Given the description of an element on the screen output the (x, y) to click on. 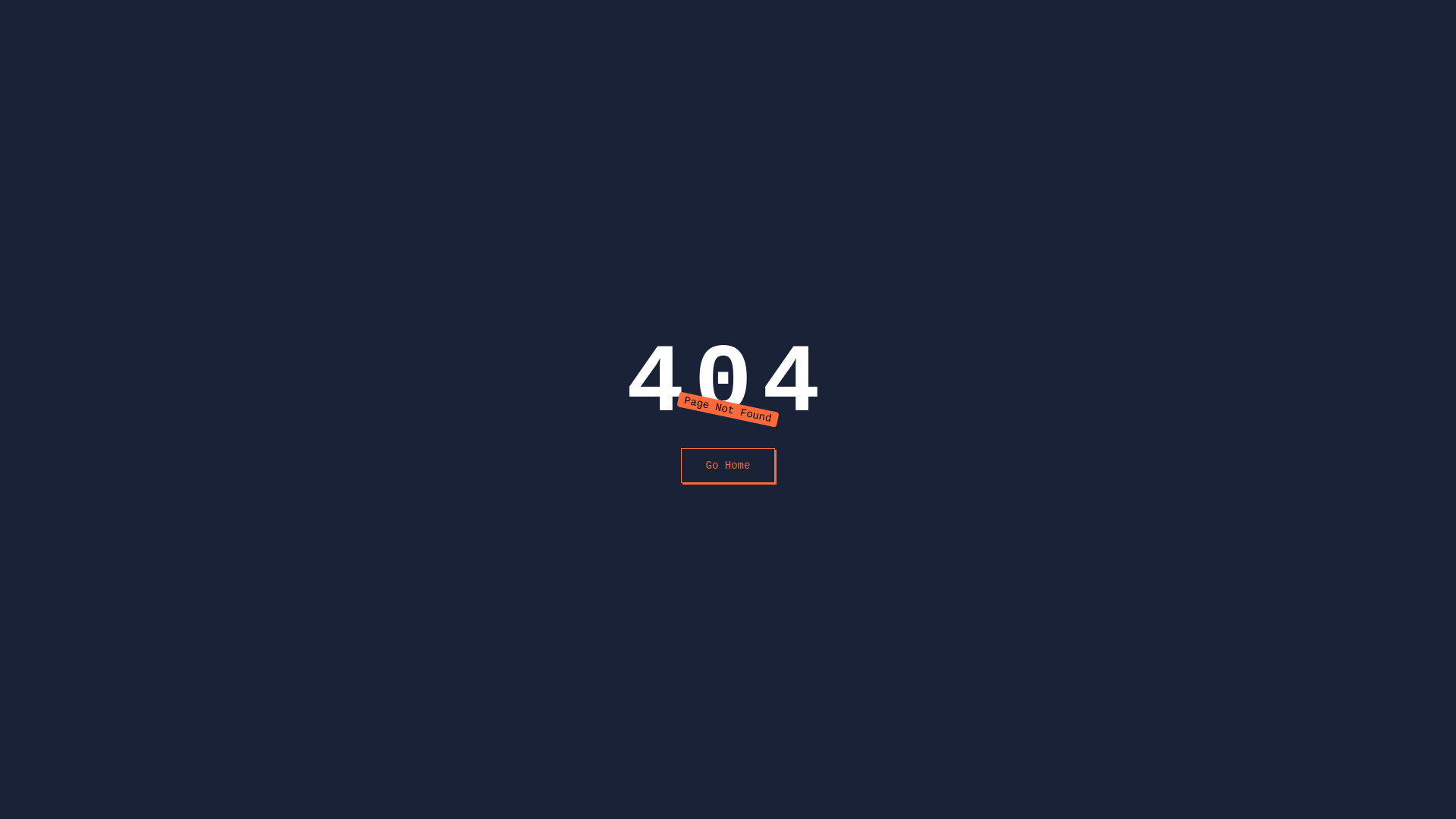
Go Home Element type: text (727, 465)
